Given the description of an element on the screen output the (x, y) to click on. 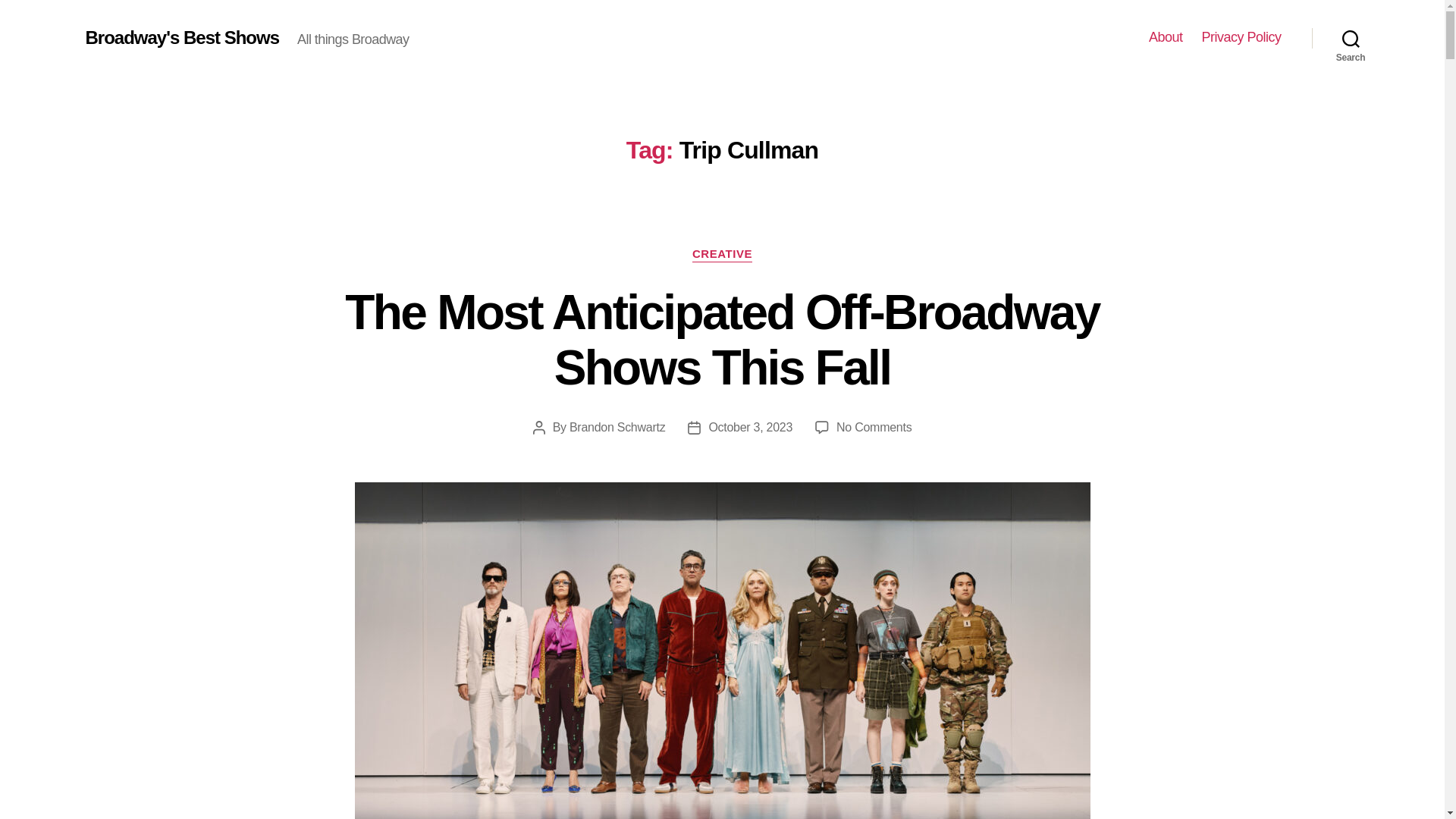
The Most Anticipated Off-Broadway Shows This Fall (722, 339)
Brandon Schwartz (617, 427)
Privacy Policy (1241, 37)
About (1165, 37)
Search (1350, 37)
October 3, 2023 (749, 427)
Broadway's Best Shows (181, 37)
CREATIVE (722, 254)
